Given the description of an element on the screen output the (x, y) to click on. 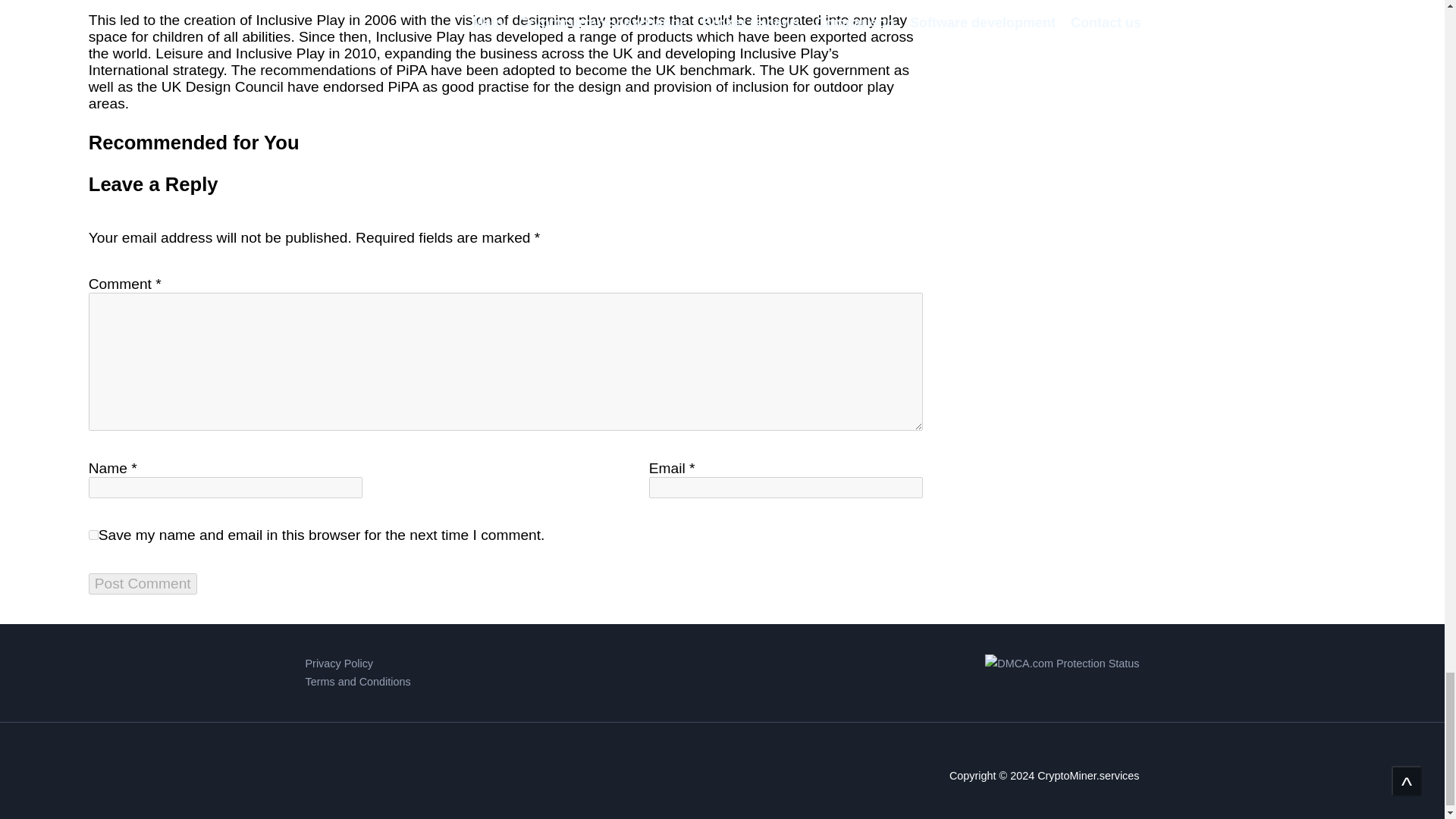
DMCA.com Protection Status (1061, 672)
yes (93, 534)
Post Comment (142, 583)
